Given the description of an element on the screen output the (x, y) to click on. 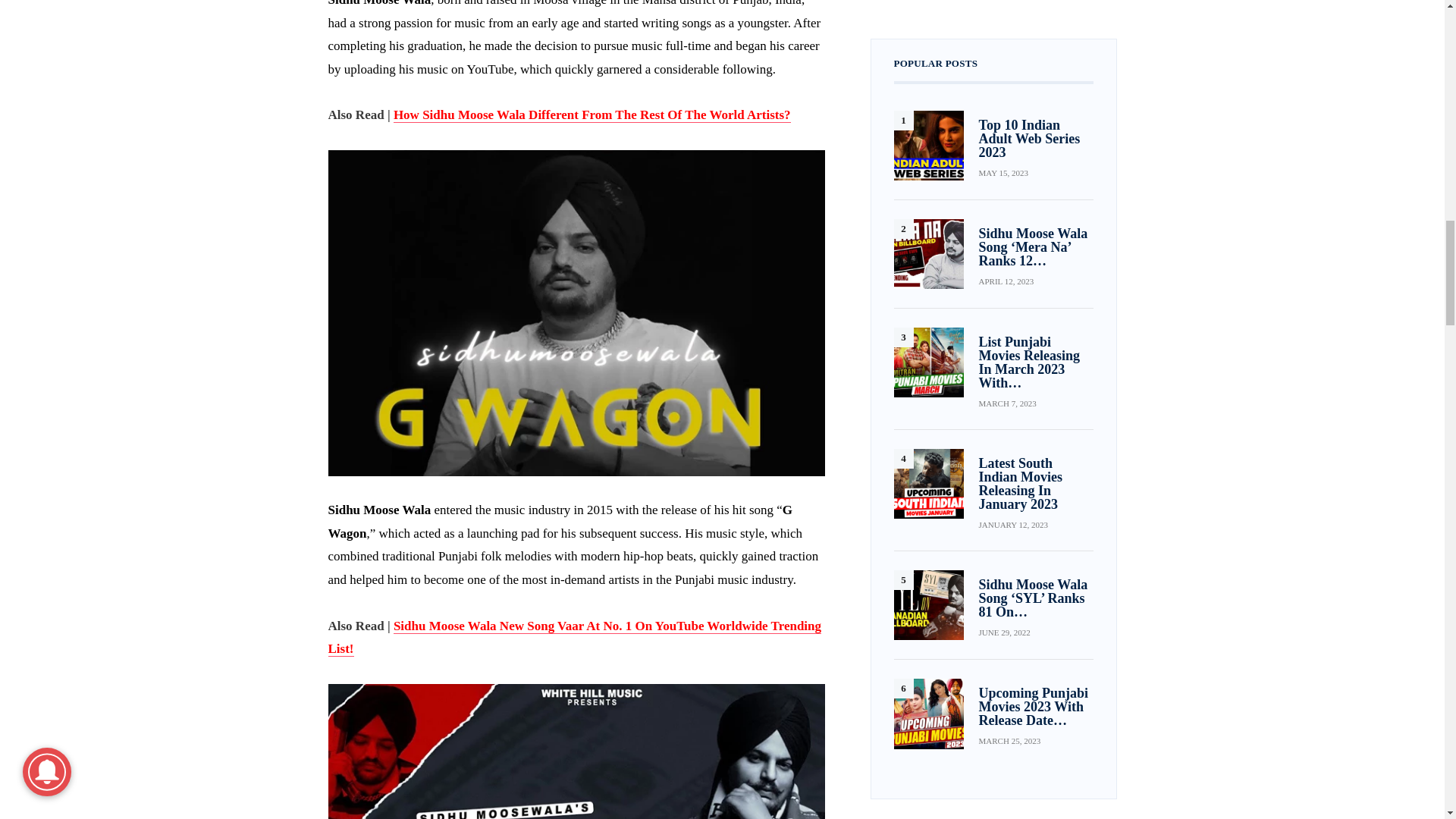
Top 10 Indian Adult Web Series 2023 (927, 145)
